Given the description of an element on the screen output the (x, y) to click on. 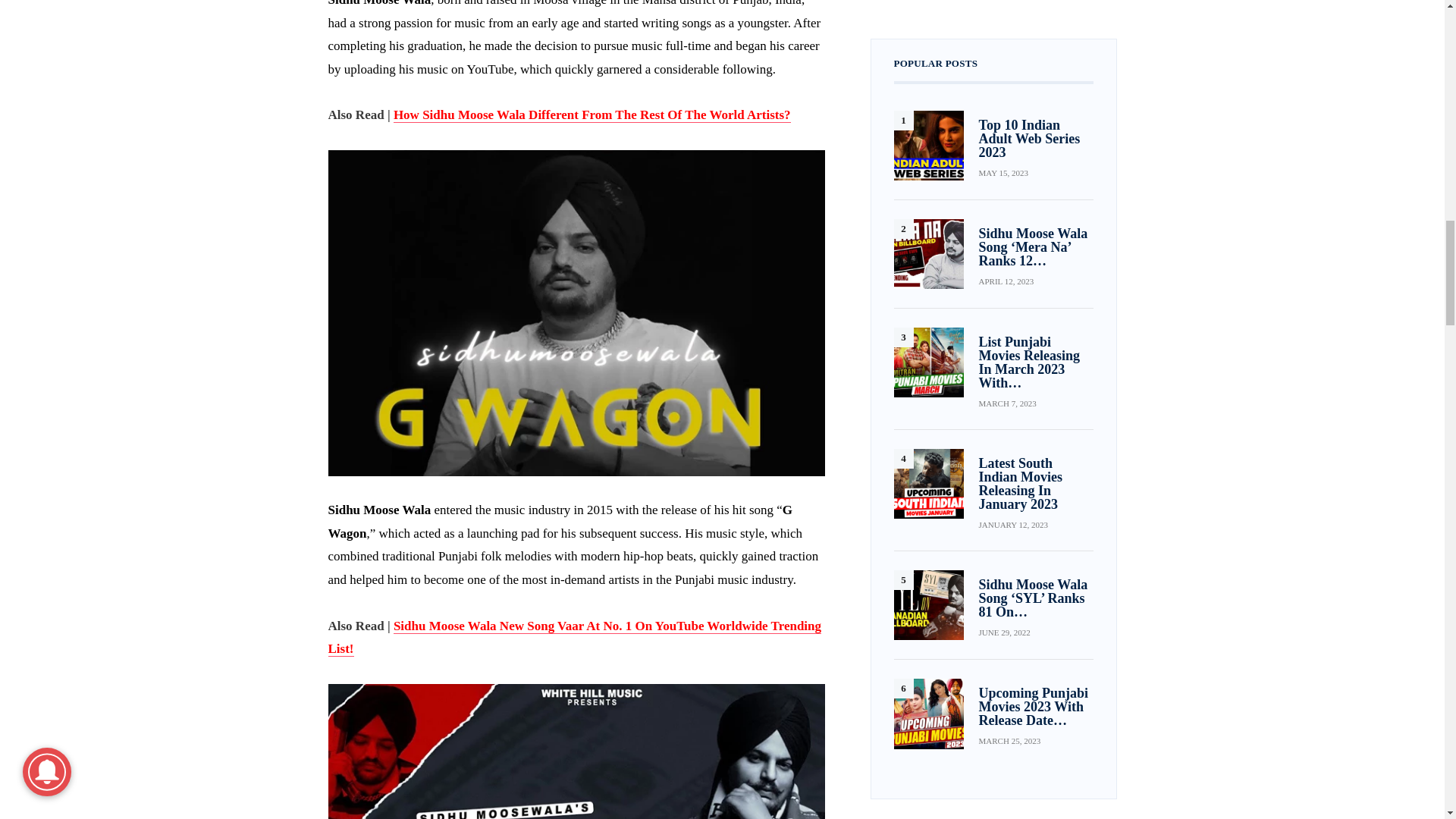
Top 10 Indian Adult Web Series 2023 (927, 145)
